Given the description of an element on the screen output the (x, y) to click on. 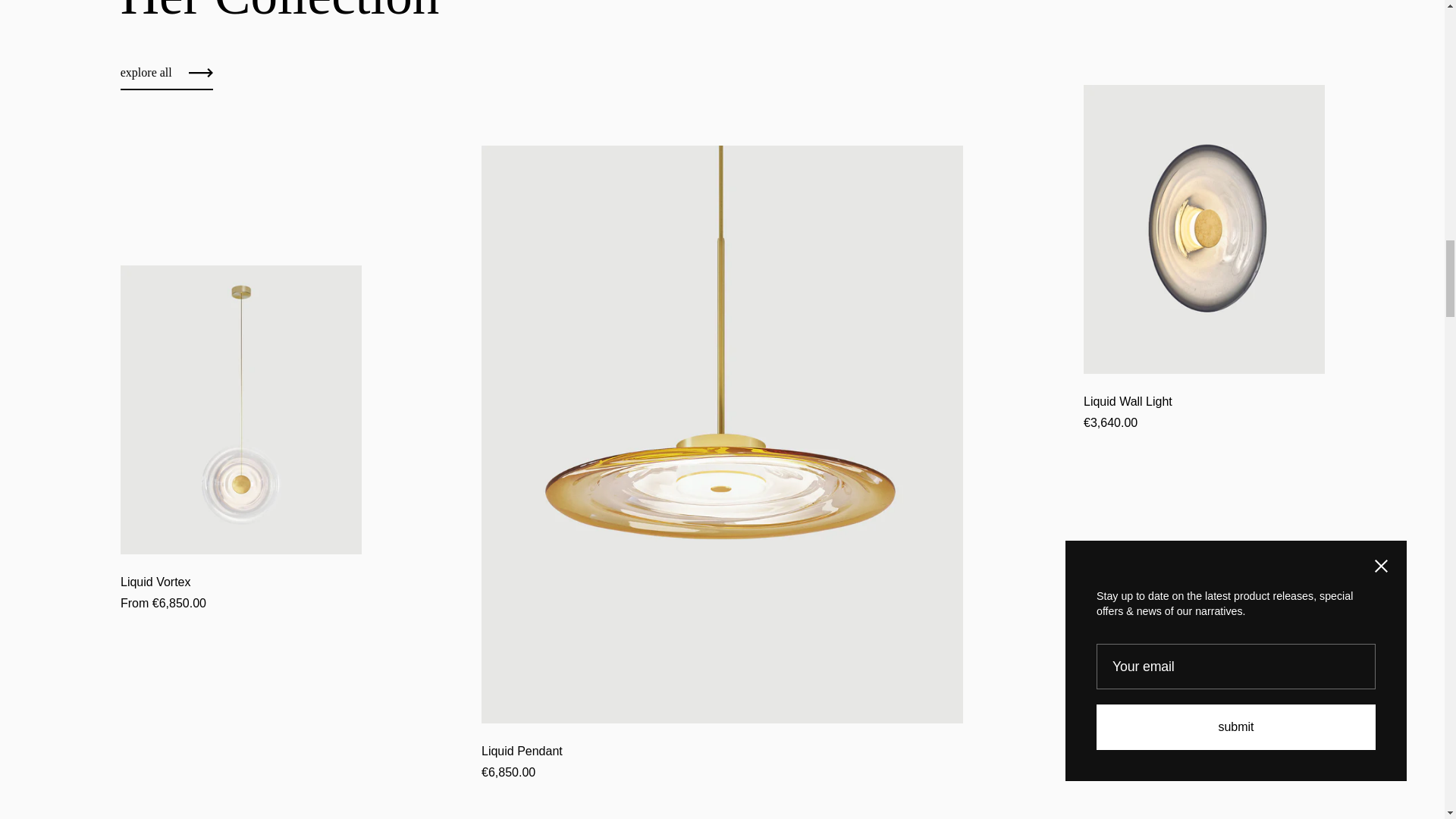
Explore all (166, 77)
